Given the description of an element on the screen output the (x, y) to click on. 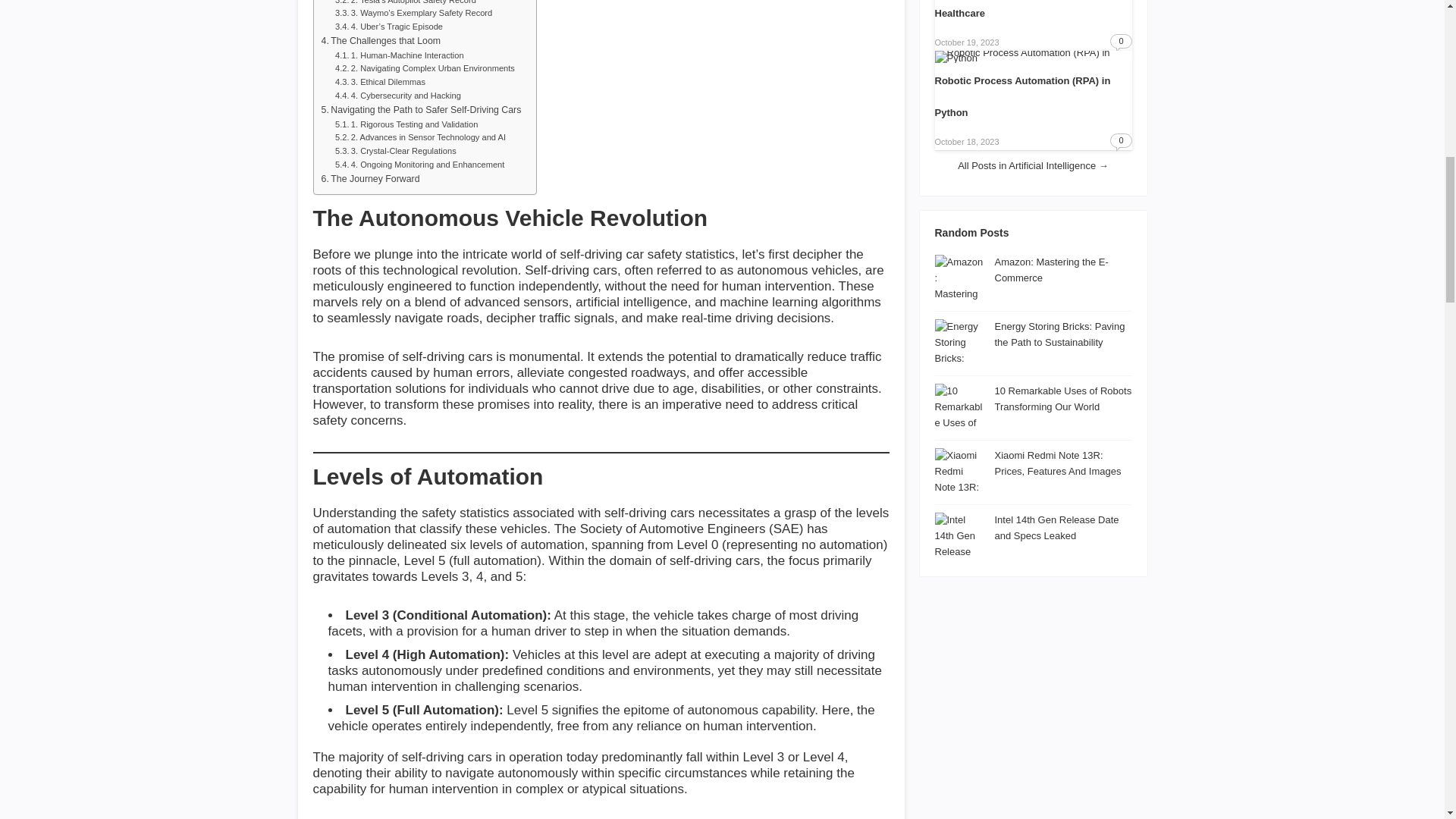
3. Crystal-Clear Regulations (395, 151)
The Challenges that Loom (381, 41)
2. Navigating Complex Urban Environments (424, 69)
2. Advances in Sensor Technology and AI (419, 137)
1. Human-Machine Interaction (399, 56)
The Challenges that Loom (381, 41)
4. Cybersecurity and Hacking (397, 96)
3. Ethical Dilemmas (379, 82)
3. Ethical Dilemmas (379, 82)
1. Human-Machine Interaction (399, 56)
Navigating the Path to Safer Self-Driving Cars (421, 110)
1. Rigorous Testing and Validation (405, 124)
4. Ongoing Monitoring and Enhancement (418, 164)
The Journey Forward (370, 179)
2. Navigating Complex Urban Environments (424, 69)
